Given the description of an element on the screen output the (x, y) to click on. 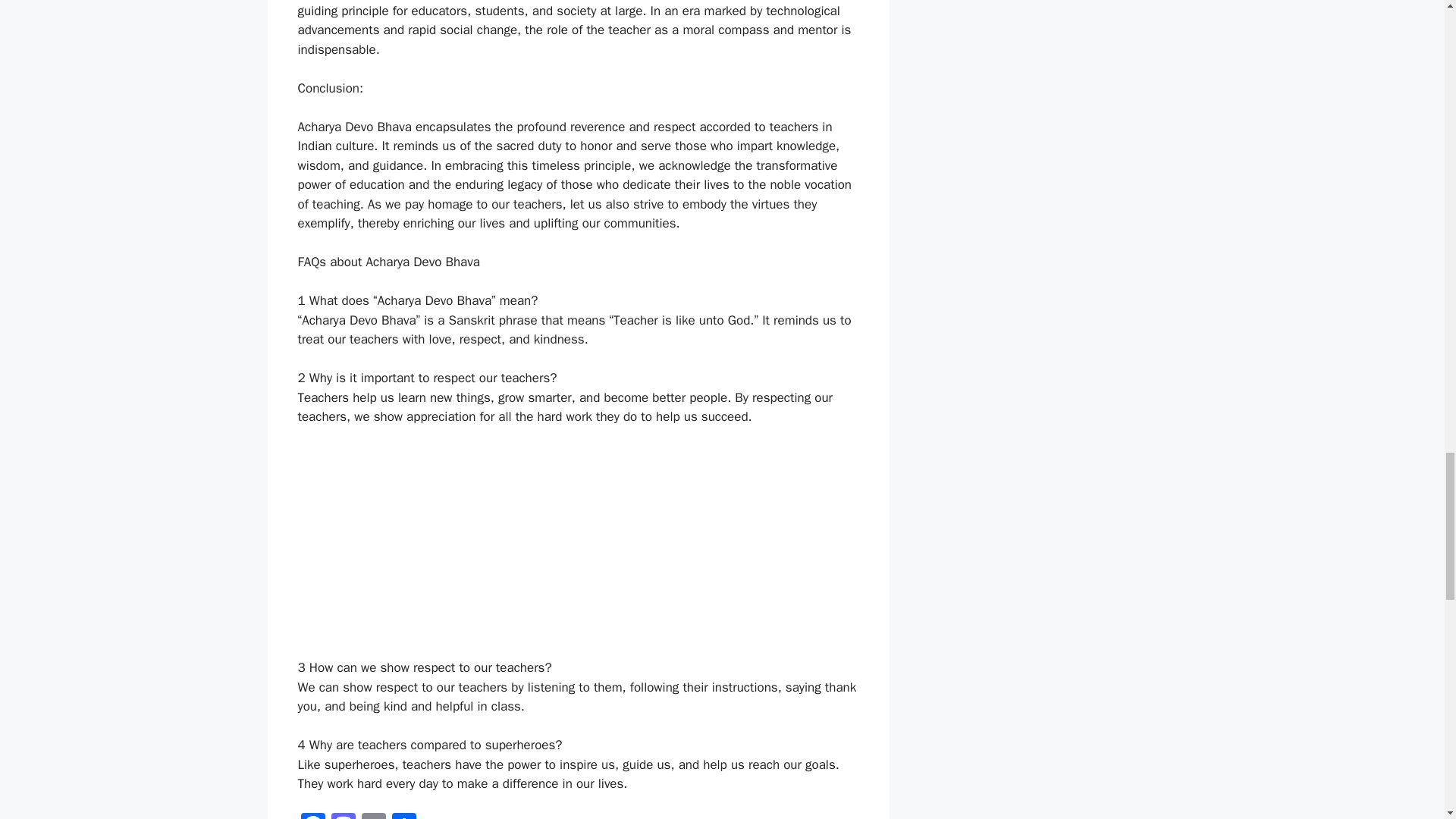
Email (373, 816)
Email (373, 816)
Share (403, 816)
Facebook (312, 816)
Mastodon (342, 816)
Mastodon (342, 816)
Facebook (312, 816)
